Given the description of an element on the screen output the (x, y) to click on. 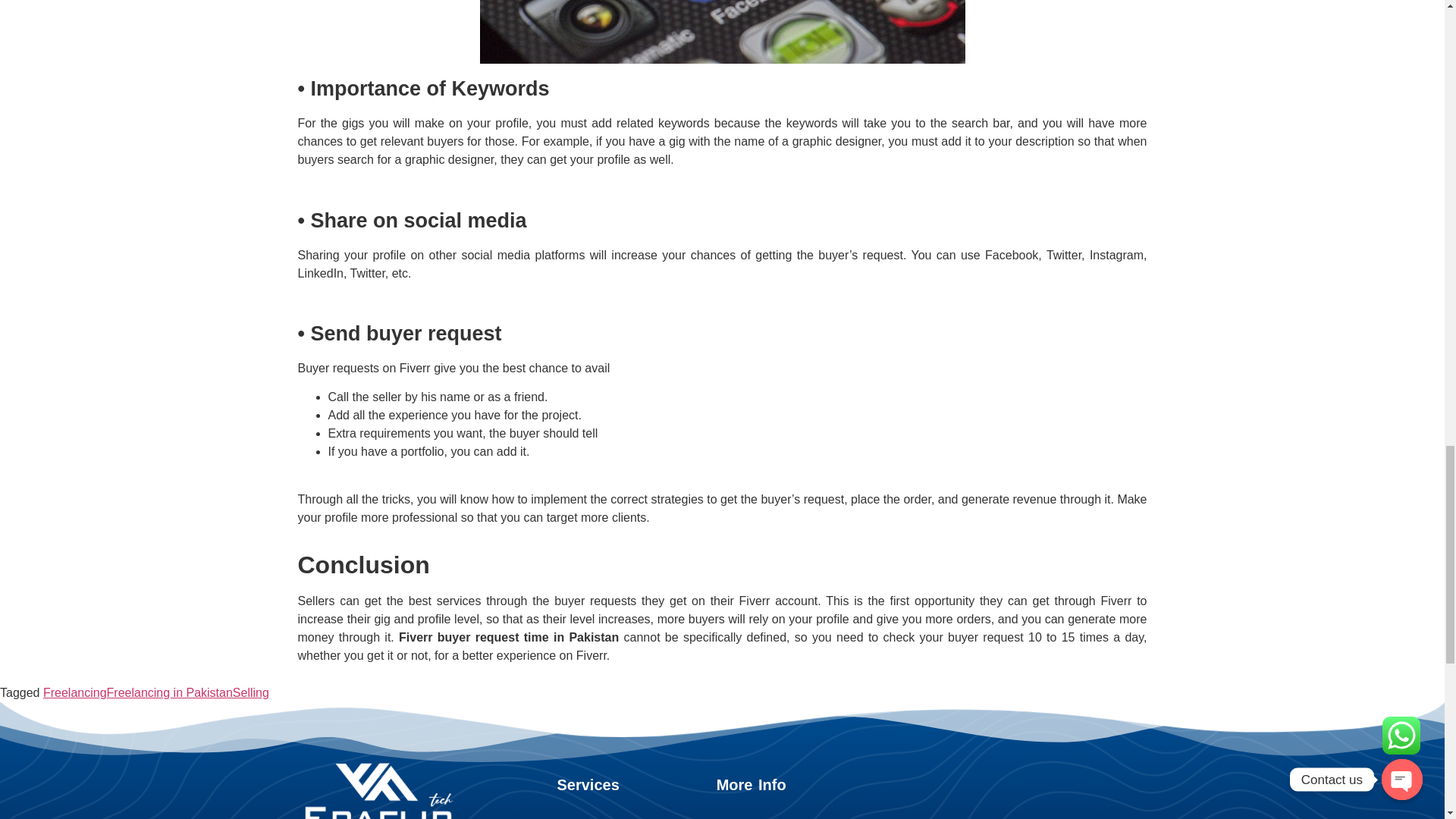
Selling (250, 692)
Freelancing in Pakistan (169, 692)
Freelancing (74, 692)
